Given the description of an element on the screen output the (x, y) to click on. 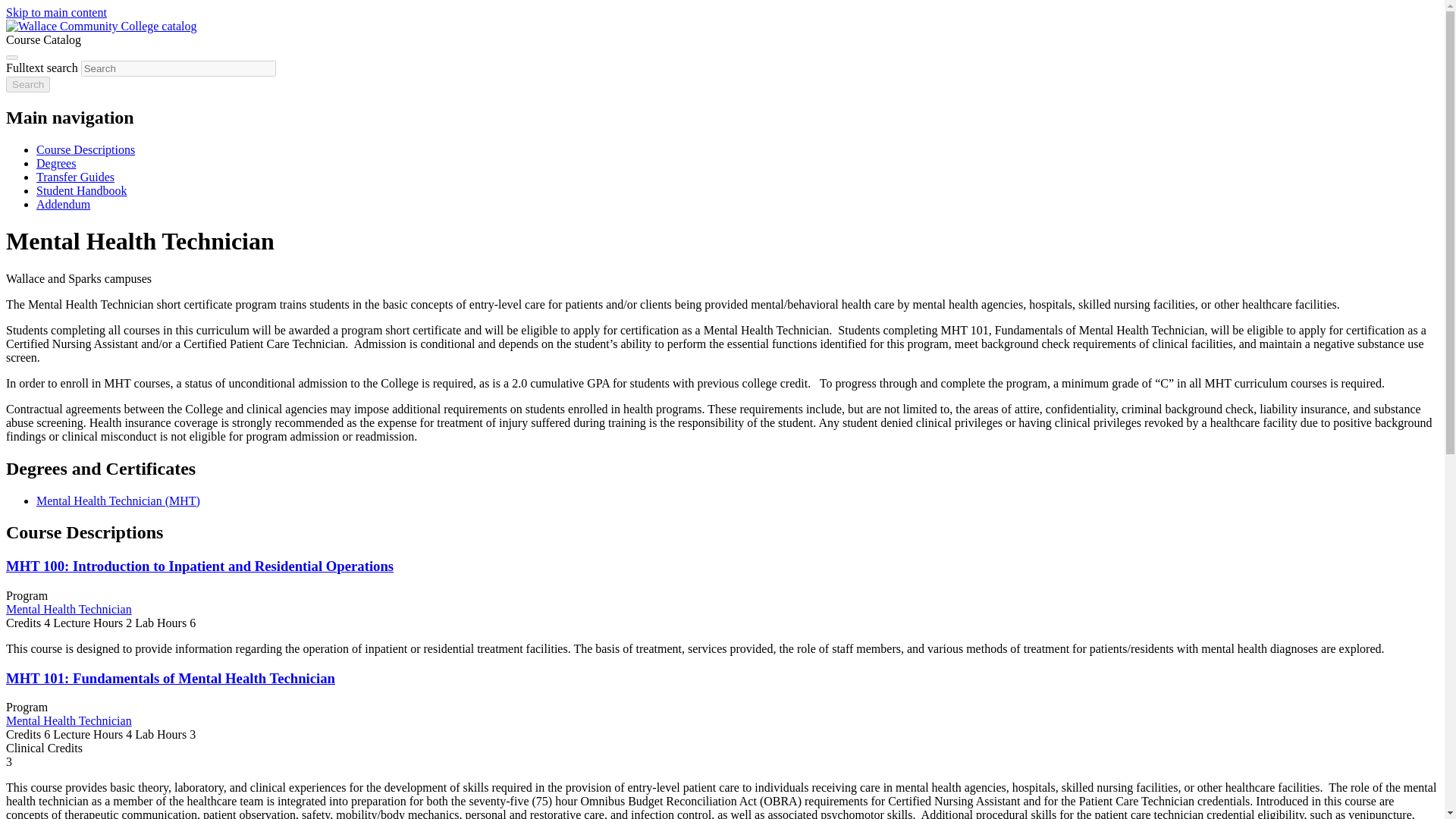
Search (27, 84)
Addendum (63, 204)
Search (27, 84)
Student Handbook (82, 190)
Skip to main content (55, 11)
Transfer Guides (75, 176)
Mental Health Technician (68, 720)
MHT 101: Fundamentals of Mental Health Technician (169, 678)
Degrees (55, 163)
Course Descriptions (85, 149)
Mental Health Technician (68, 608)
